Given the description of an element on the screen output the (x, y) to click on. 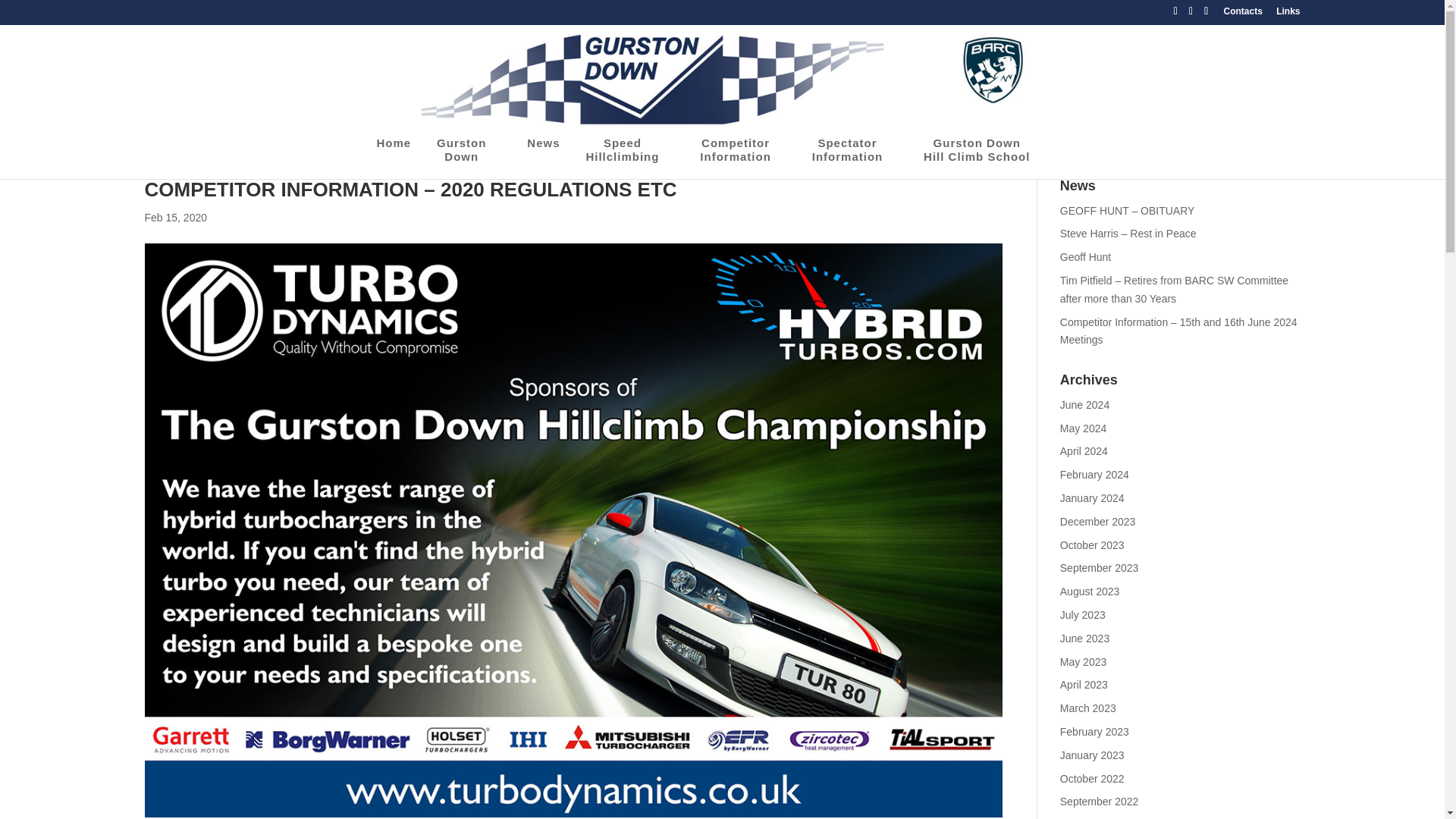
Contacts (1242, 14)
Links (629, 157)
Turbo Dynamics - Hybrid Turbos (468, 157)
